Given the description of an element on the screen output the (x, y) to click on. 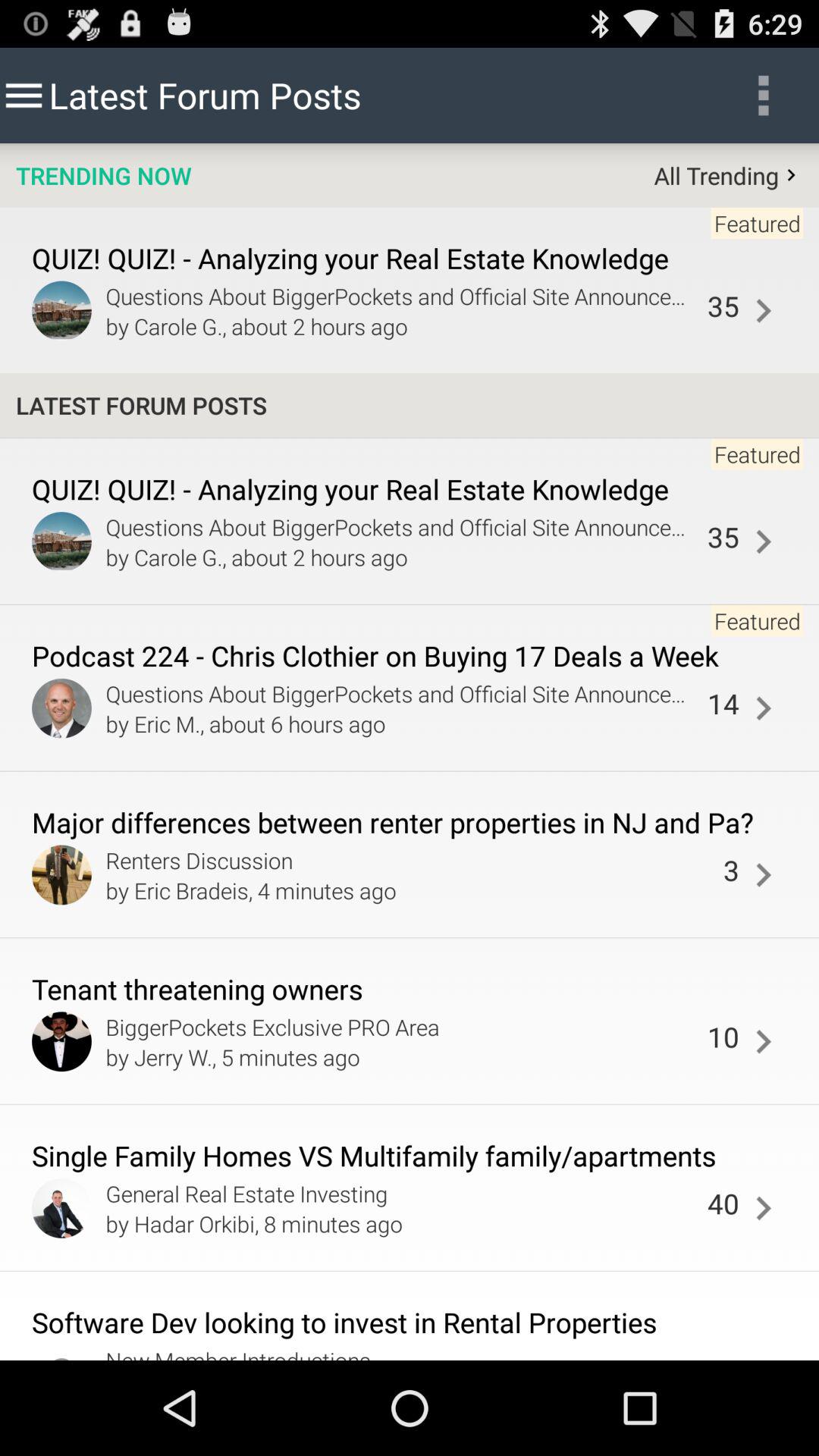
tap the app next to the 10 app (763, 1041)
